Given the description of an element on the screen output the (x, y) to click on. 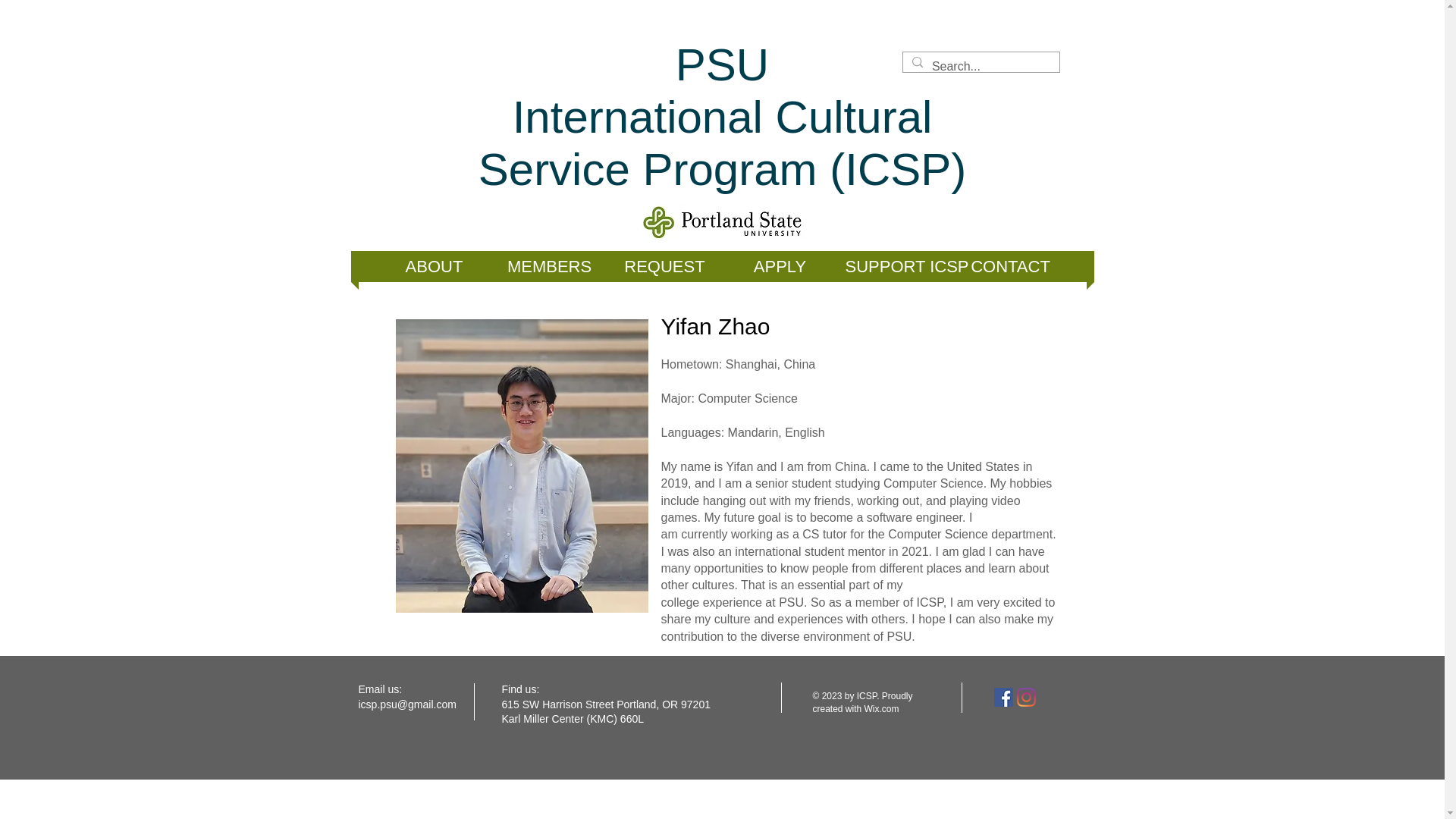
REQUEST (664, 265)
Wix.com (881, 708)
CONTACT (1009, 265)
ABOUT (433, 265)
SUPPORT ICSP (706, 116)
MEMBERS (894, 265)
APPLY (549, 265)
